Given the description of an element on the screen output the (x, y) to click on. 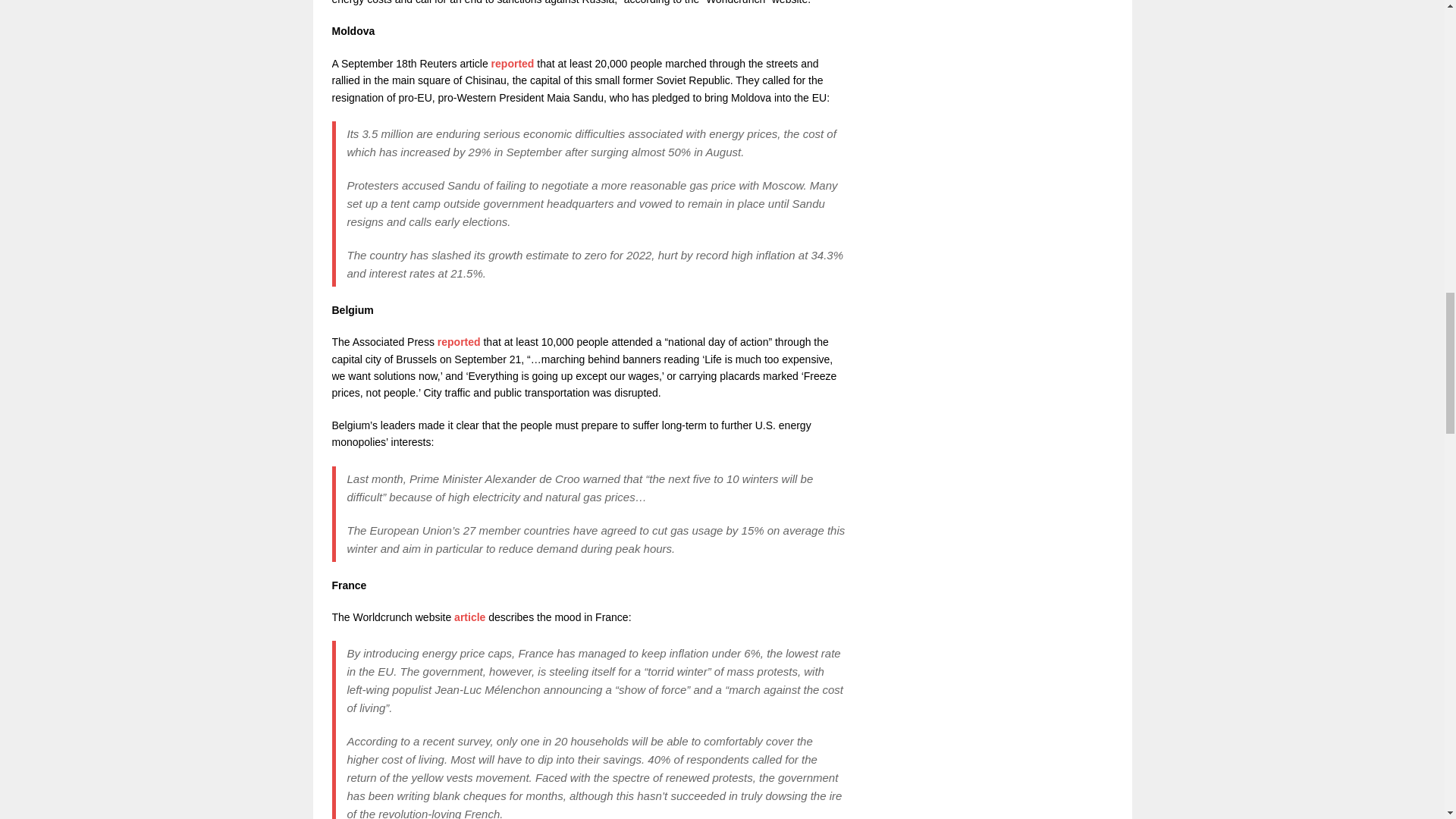
reported (513, 63)
article (469, 616)
reported (459, 341)
